Given the description of an element on the screen output the (x, y) to click on. 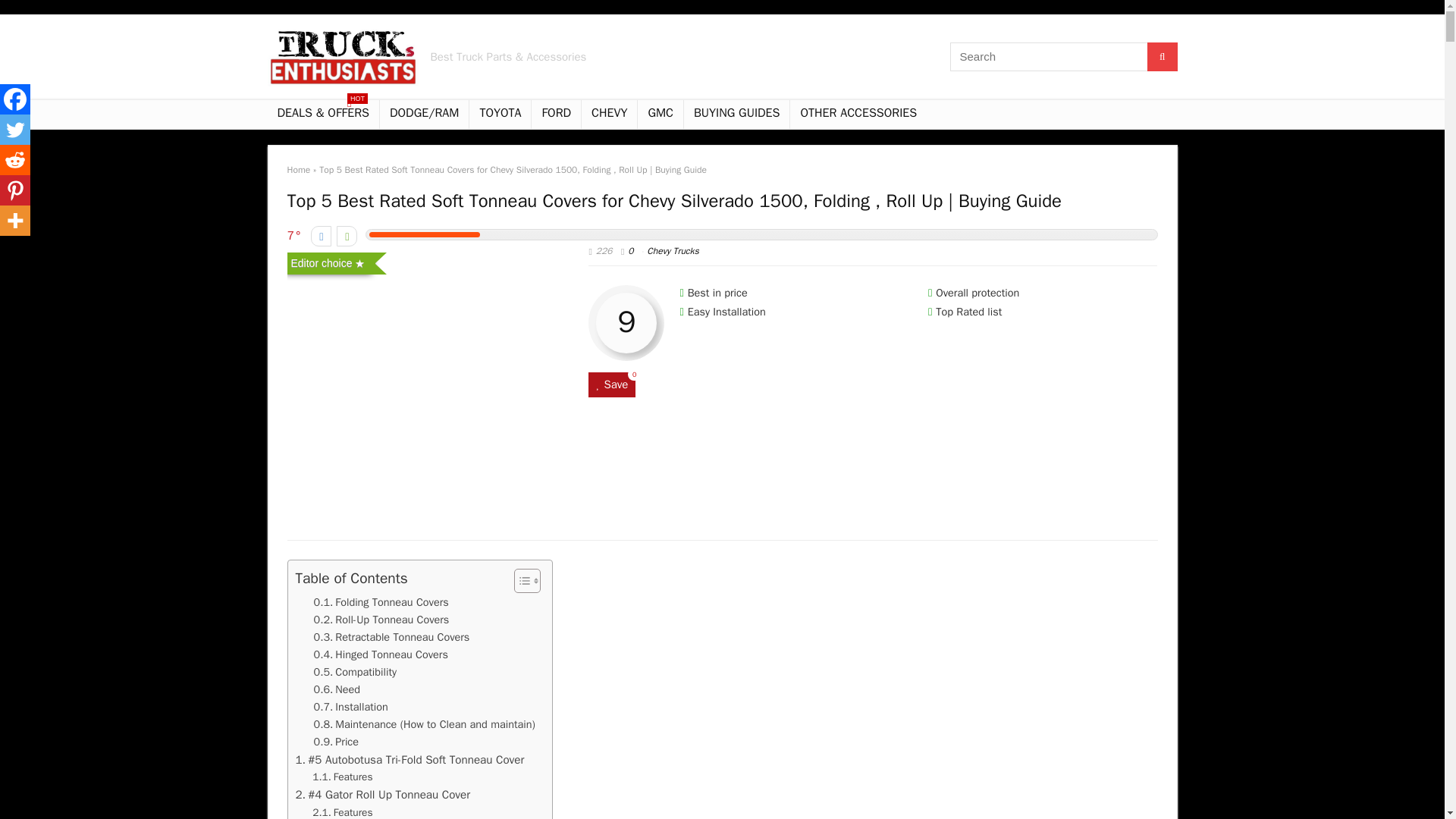
Features (342, 777)
FORD (555, 113)
Need (337, 689)
Folding Tonneau Covers (381, 601)
Retractable Tonneau Covers (392, 637)
Chevy Trucks (672, 250)
OTHER ACCESSORIES (858, 113)
Vote up (346, 236)
Compatibility (355, 671)
Installation (351, 706)
